Given the description of an element on the screen output the (x, y) to click on. 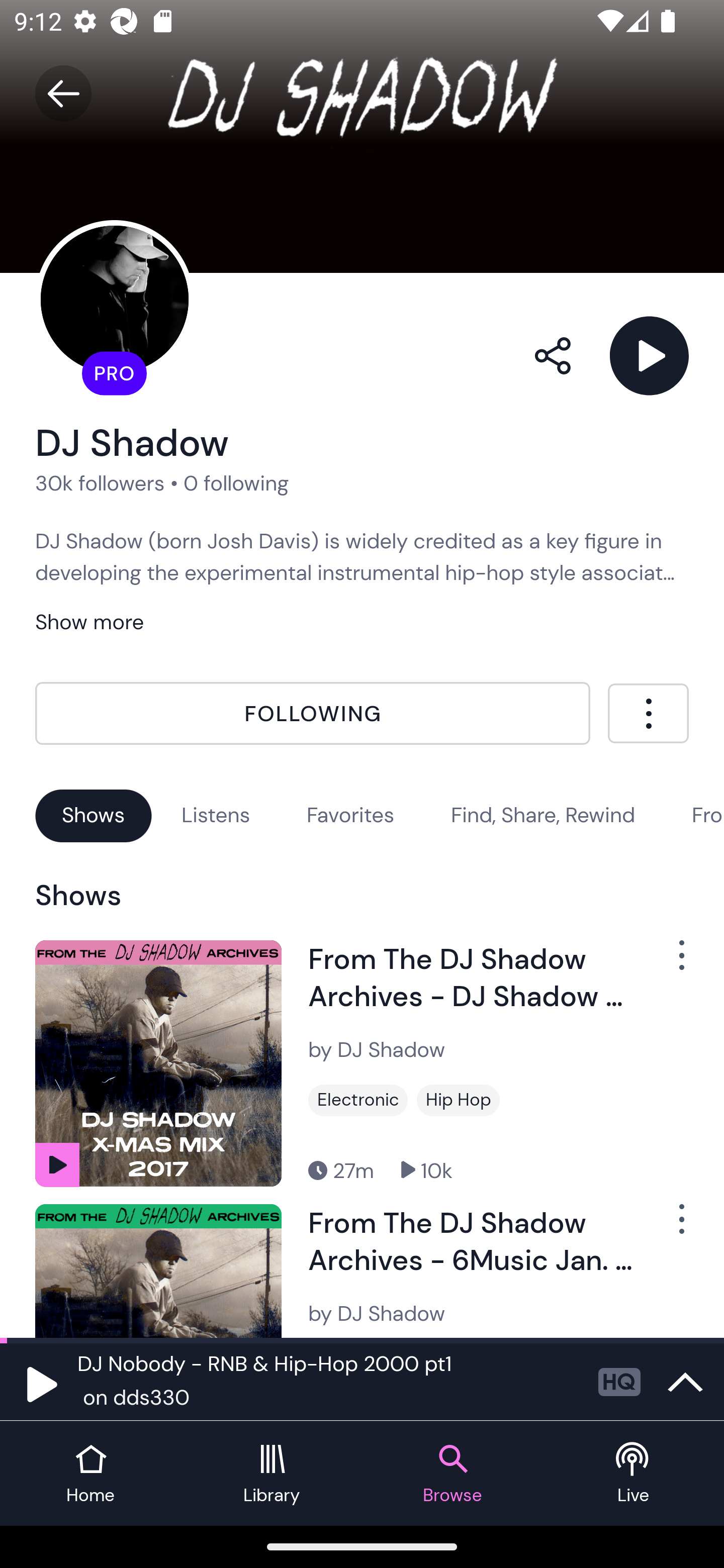
30k followers (100, 482)
0 following (235, 482)
Following FOLLOWING (312, 713)
More Menu (648, 713)
Shows (93, 815)
Listens (215, 815)
Favorites (350, 815)
Find, Share, Rewind (543, 815)
From the DJ Shadow Archives (708, 815)
Show Options Menu Button (670, 963)
Electronic (357, 1100)
Hip Hop (458, 1100)
Show Options Menu Button (670, 1226)
Home tab Home (90, 1473)
Library tab Library (271, 1473)
Browse tab Browse (452, 1473)
Live tab Live (633, 1473)
